Given the description of an element on the screen output the (x, y) to click on. 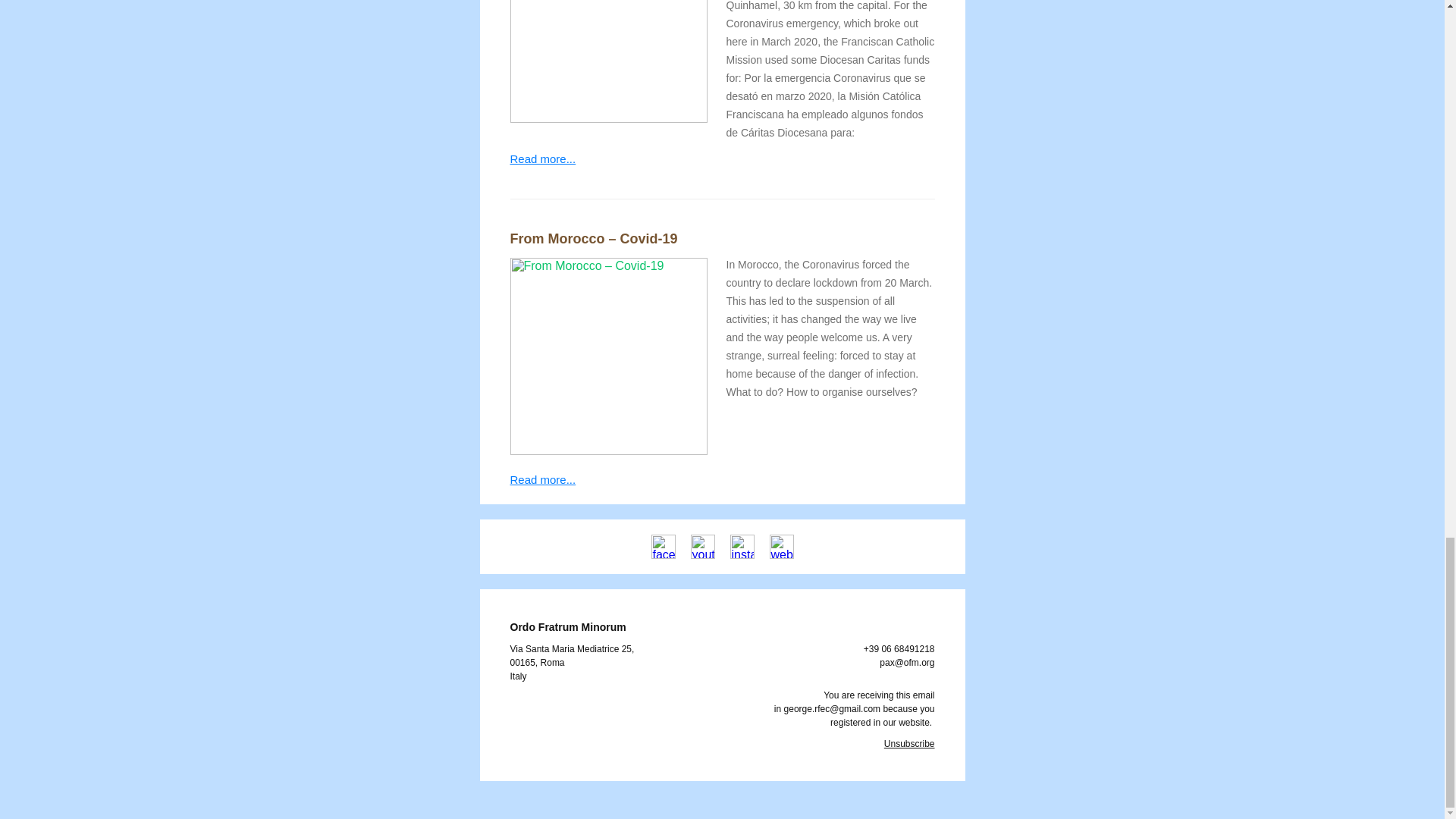
Unsubscribe (908, 742)
Read more... (542, 158)
Read more... (542, 478)
